Given the description of an element on the screen output the (x, y) to click on. 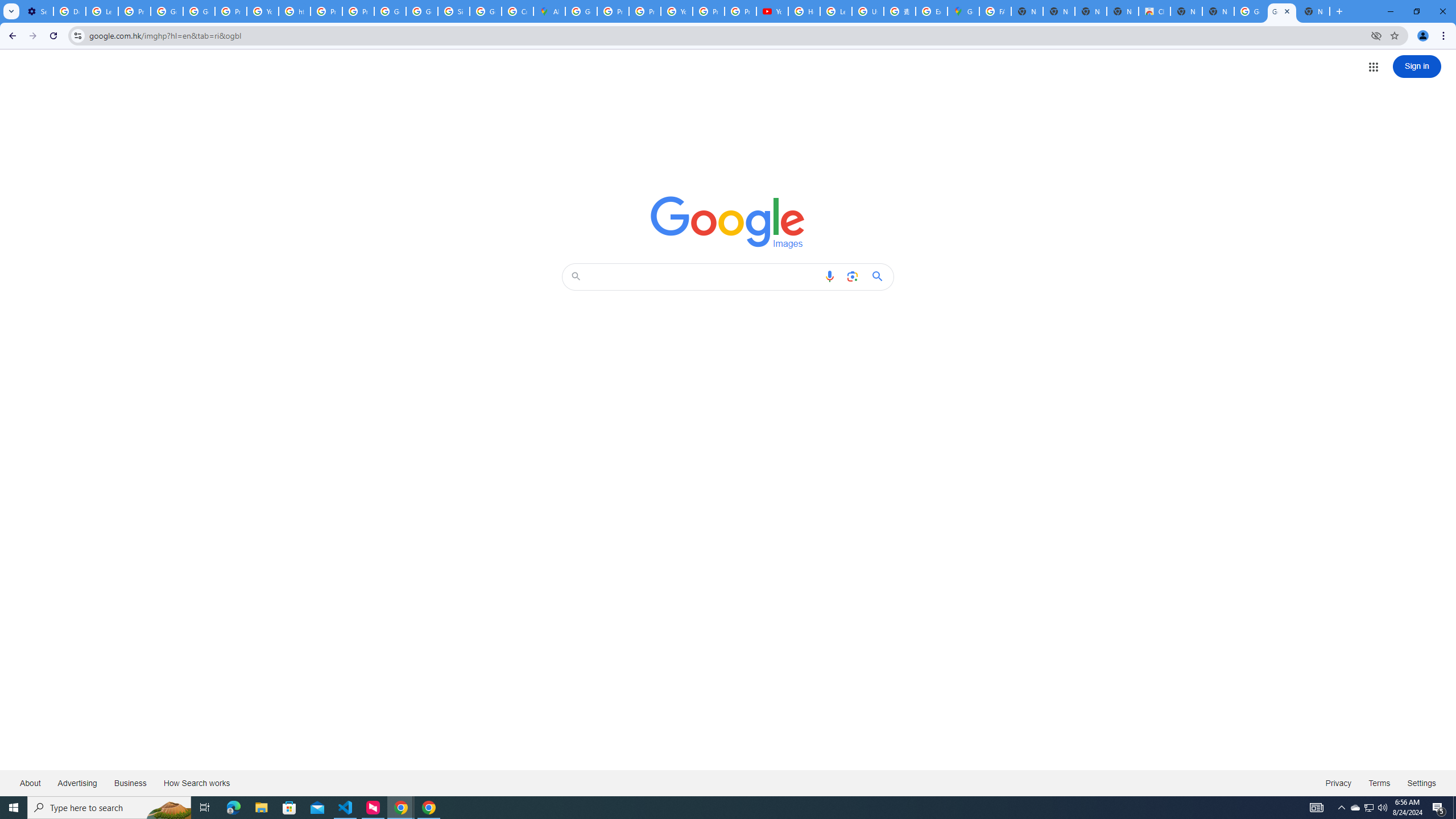
Search by image (852, 276)
Learn how to find your photos - Google Photos Help (101, 11)
YouTube (772, 11)
Third-party cookies blocked (1376, 35)
About (30, 782)
Privacy (1337, 782)
Google Account Help (166, 11)
Sign in - Google Accounts (453, 11)
Privacy Help Center - Policies Help (644, 11)
New Tab (1313, 11)
Terms (1379, 782)
Privacy Checkup (740, 11)
